Given the description of an element on the screen output the (x, y) to click on. 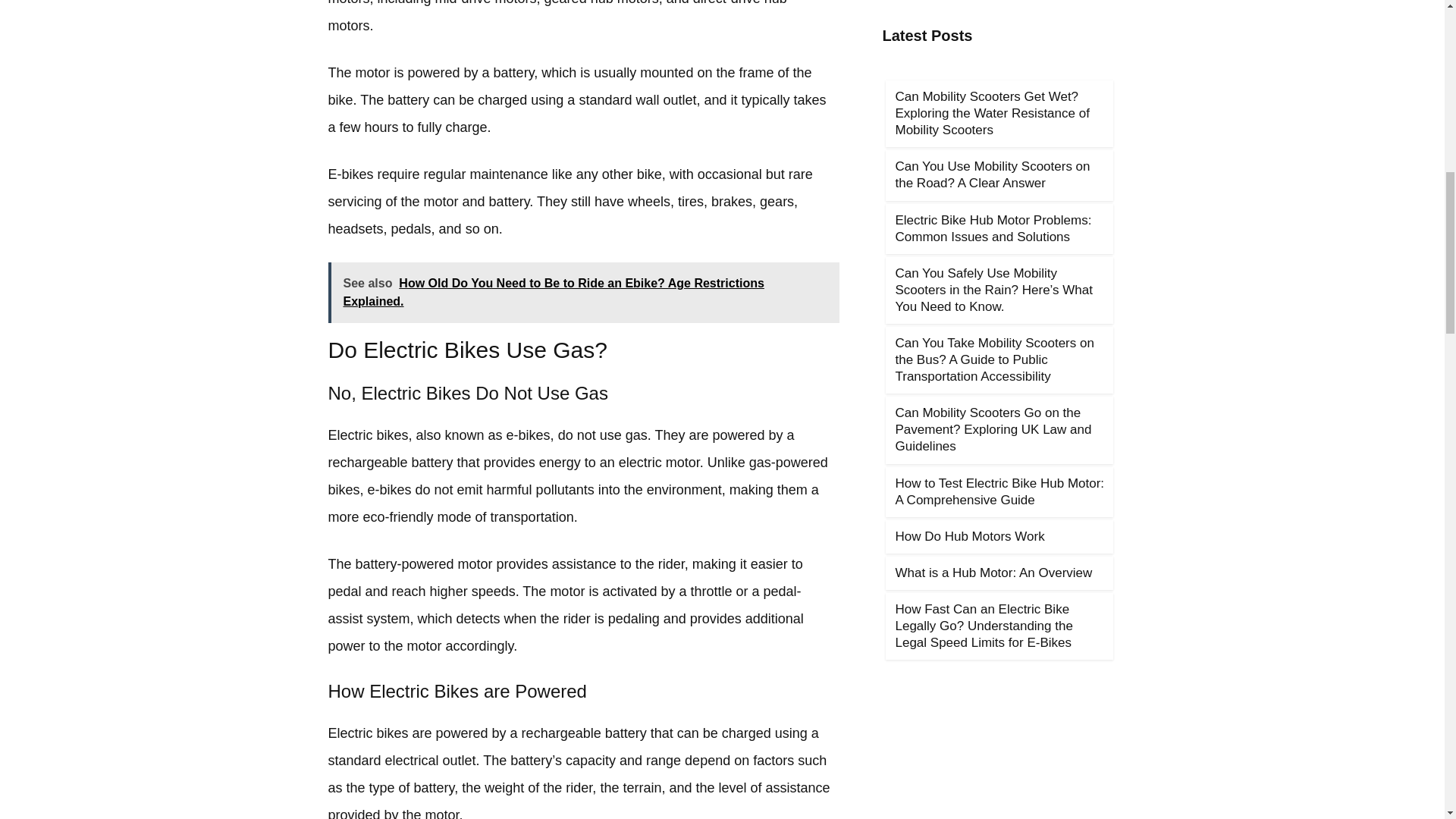
How to Test Electric Bike Hub Motor: A Comprehensive Guide (999, 490)
Can You Use Mobility Scooters on the Road? A Clear Answer (992, 174)
How Do Hub Motors Work (969, 536)
